Given the description of an element on the screen output the (x, y) to click on. 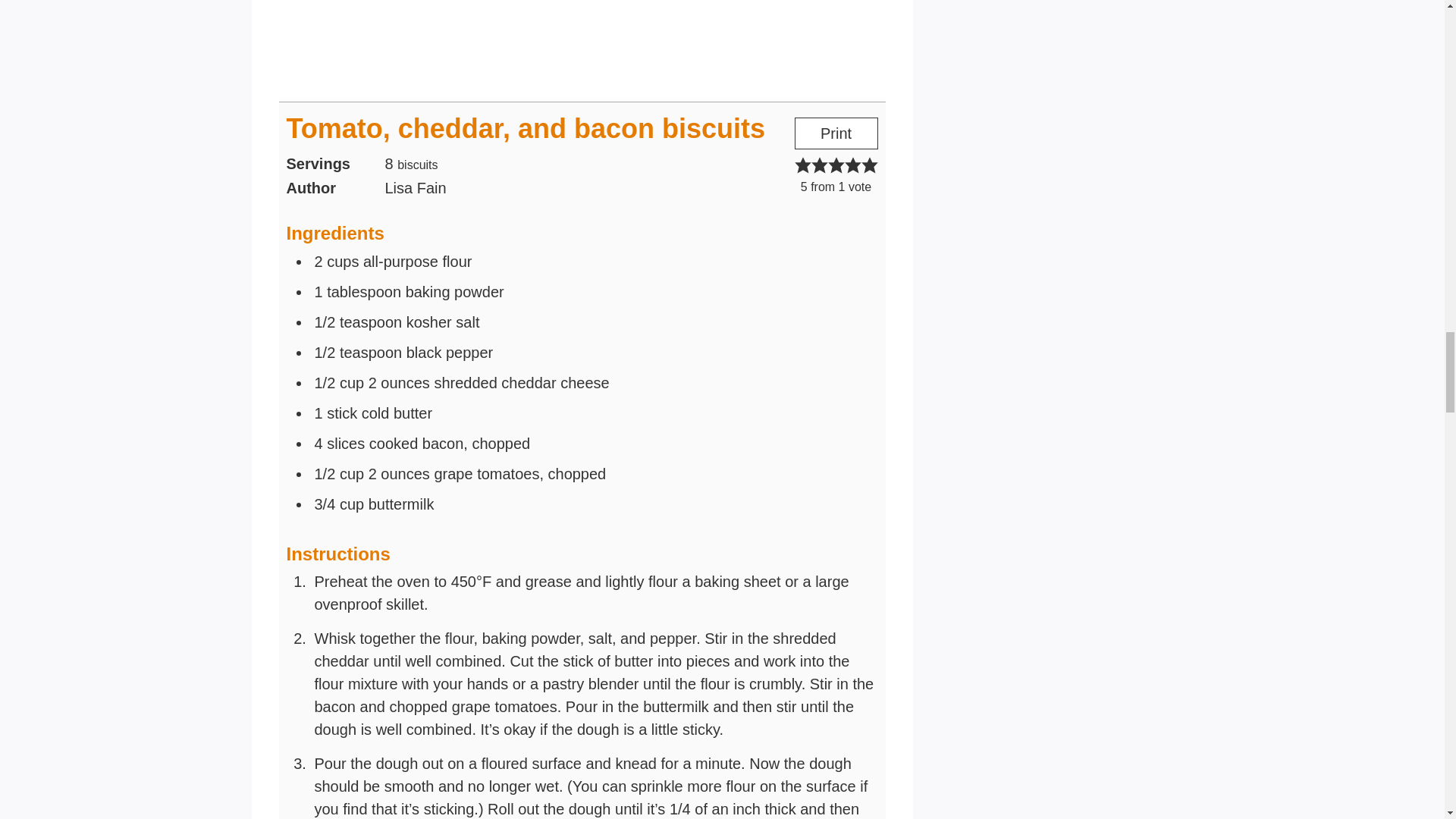
Print (835, 133)
